Given the description of an element on the screen output the (x, y) to click on. 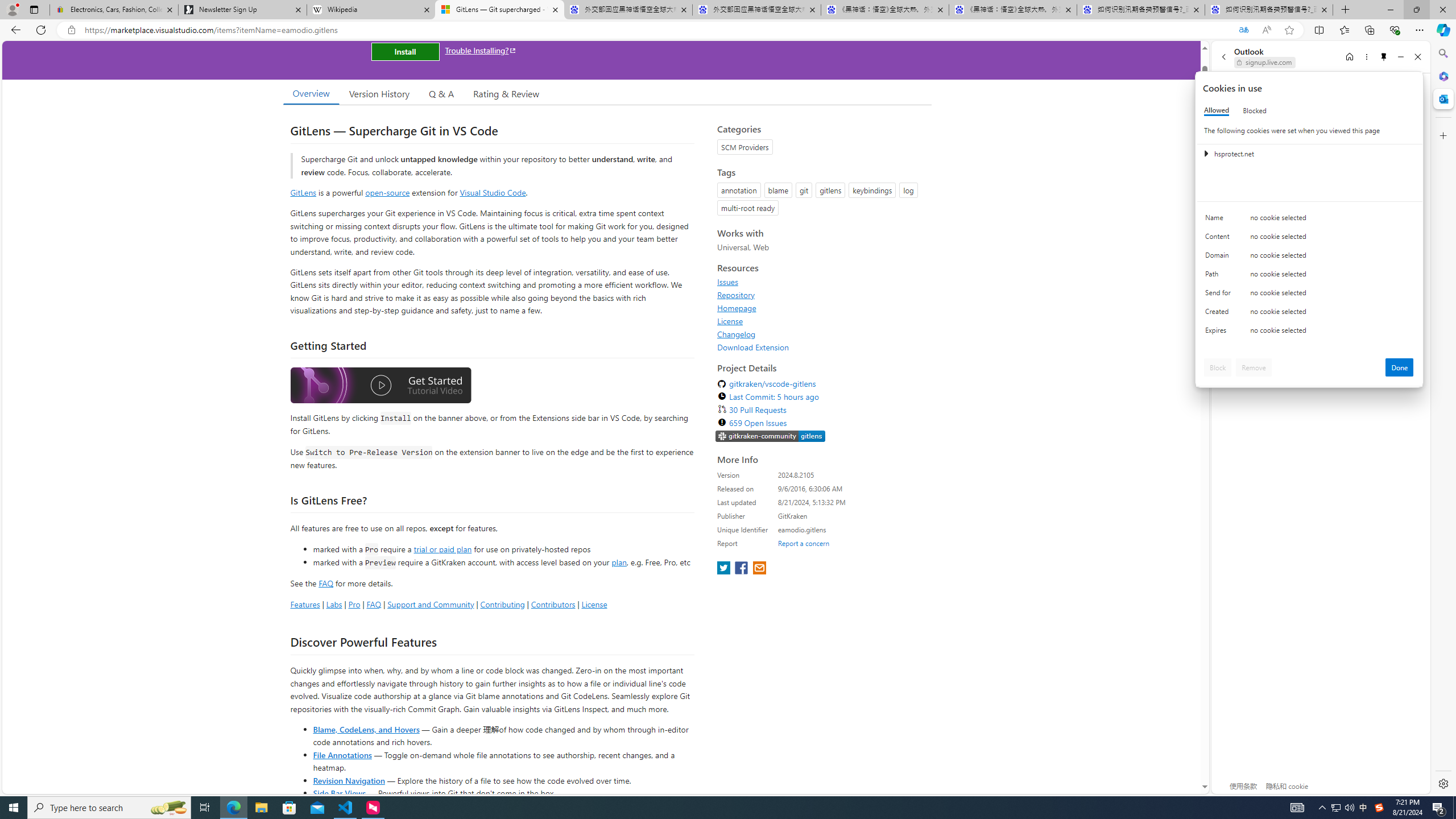
Created (1219, 313)
Domain (1219, 257)
Name (1219, 220)
Blocked (1255, 110)
Allowed (1216, 110)
Done (1399, 367)
Send for (1219, 295)
Class: c0153 c0157 c0154 (1309, 220)
Expires (1219, 332)
Class: c0153 c0157 (1309, 332)
no cookie selected (1331, 332)
Path (1219, 276)
Remove (1253, 367)
Block (1217, 367)
Content (1219, 239)
